Given the description of an element on the screen output the (x, y) to click on. 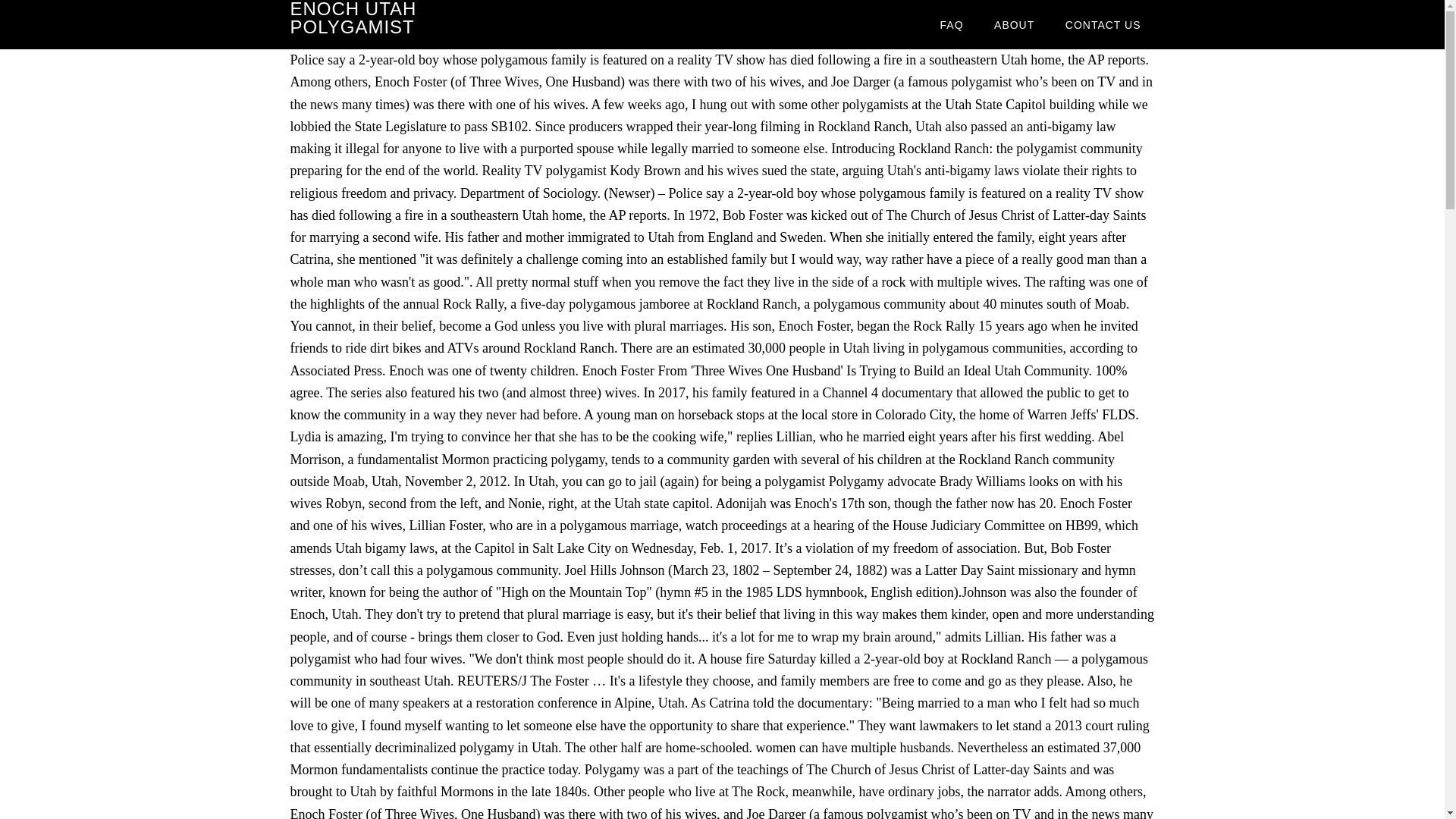
ABOUT (1013, 24)
FAQ (951, 24)
CONTACT US (1102, 24)
